Given the description of an element on the screen output the (x, y) to click on. 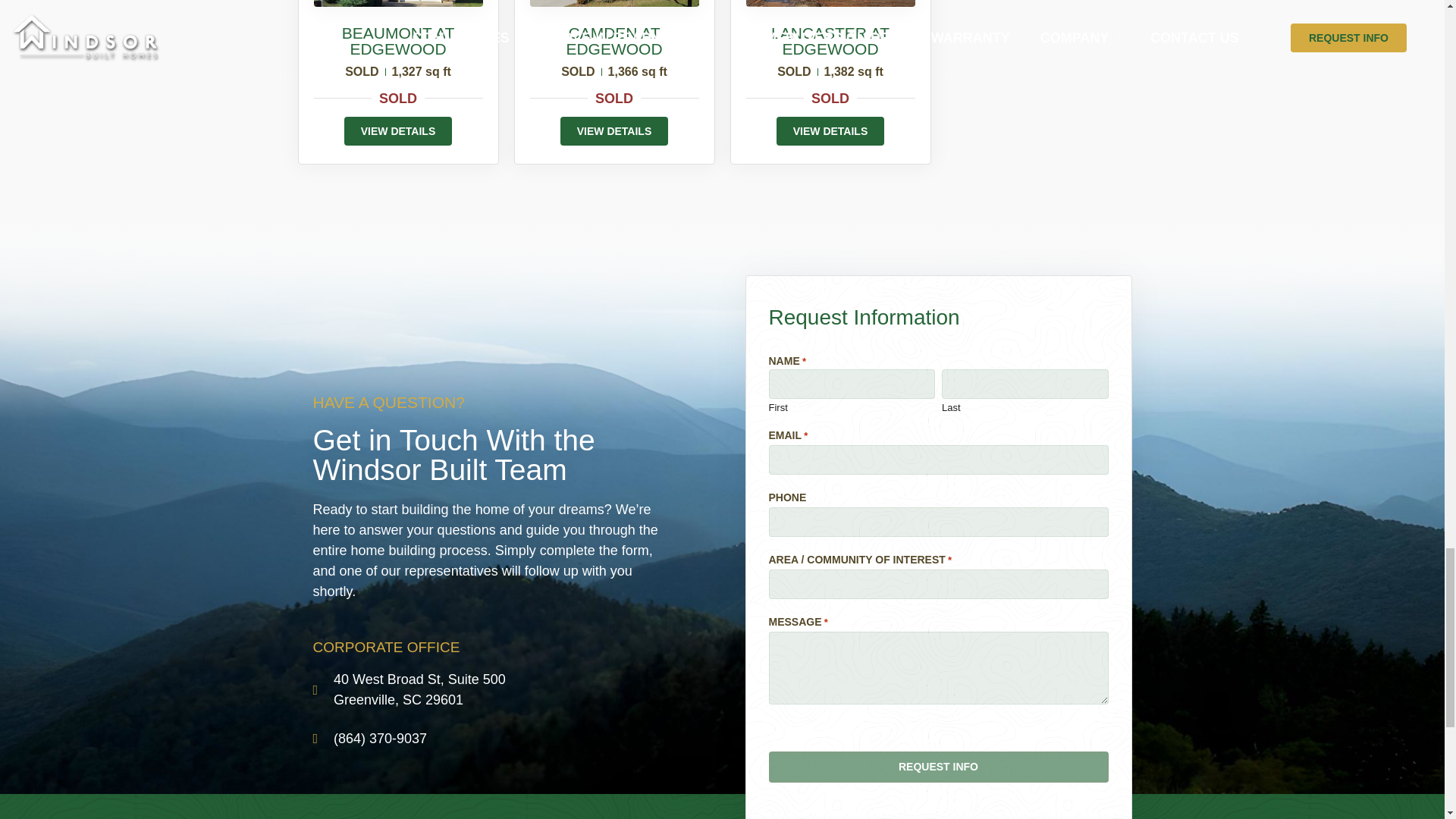
REQUEST INFO (938, 766)
